Given the description of an element on the screen output the (x, y) to click on. 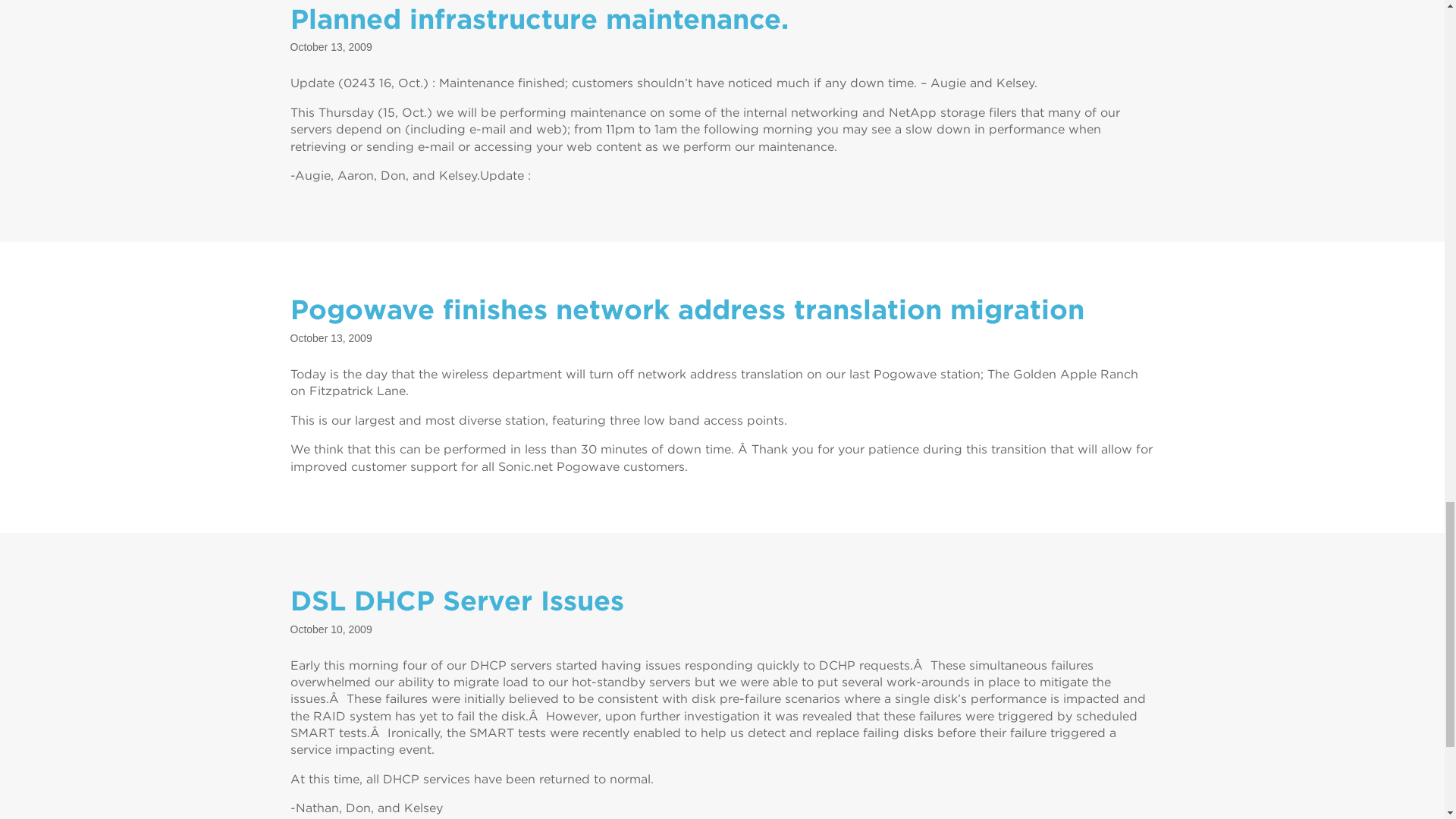
DSL DHCP Server Issues (456, 600)
October 13, 2009 (330, 46)
October 10, 2009 (330, 629)
Planned infrastructure maintenance. (538, 19)
Pogowave finishes network address translation migration (686, 308)
October 13, 2009 (330, 337)
